Given the description of an element on the screen output the (x, y) to click on. 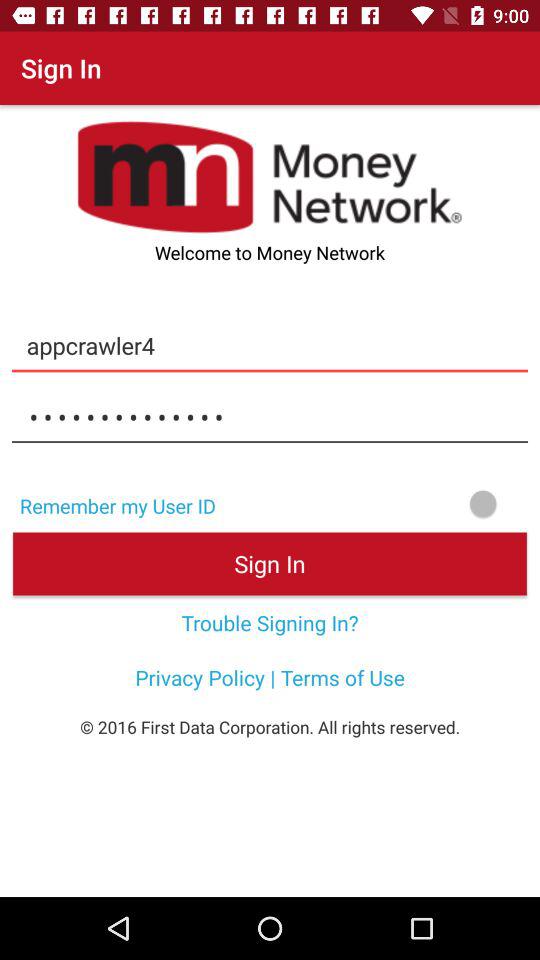
fill in (384, 503)
